Given the description of an element on the screen output the (x, y) to click on. 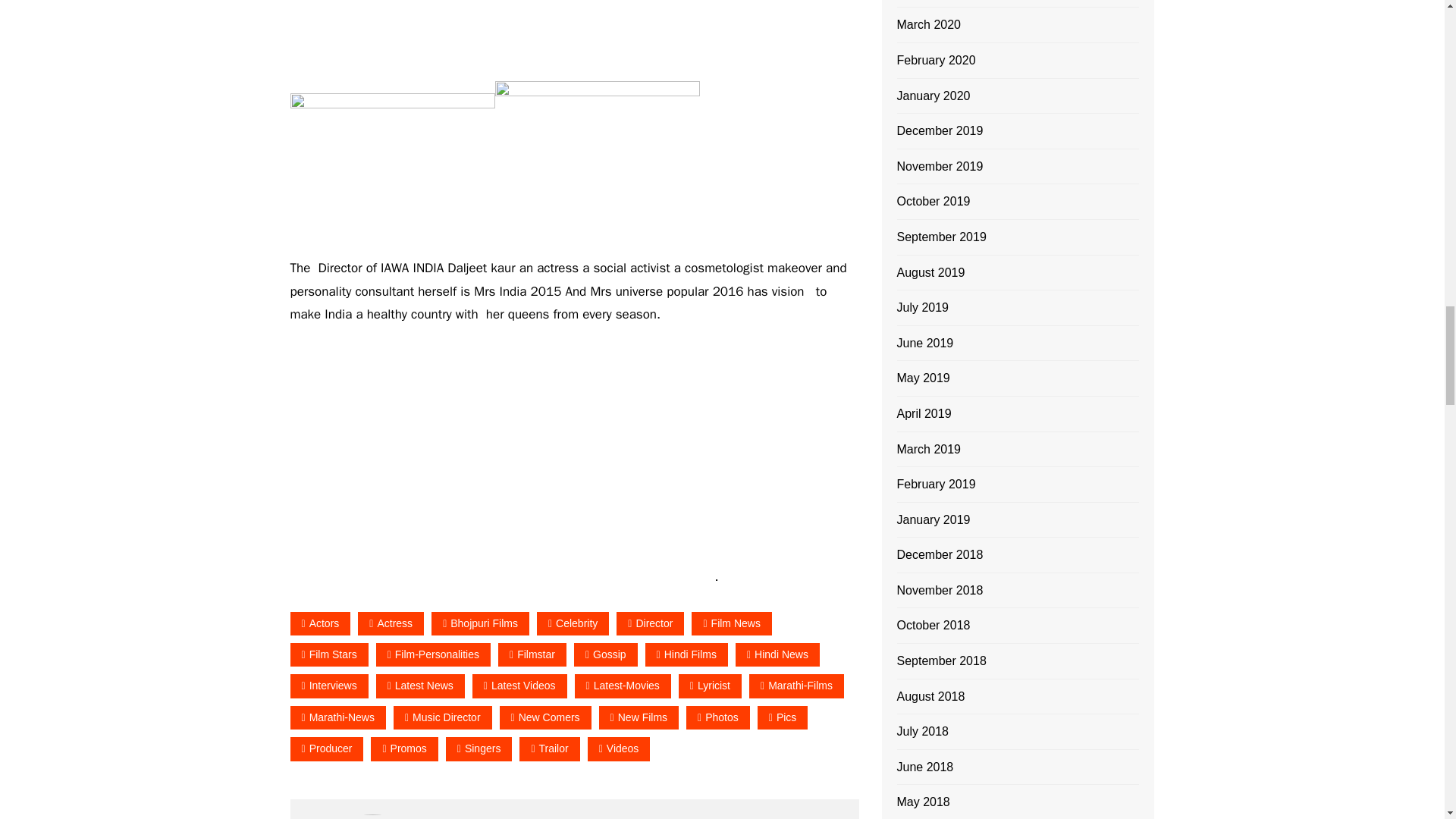
Celebrity (572, 623)
Bhojpuri Films (479, 623)
Marathi-News (337, 717)
Film Stars (328, 654)
Actors (319, 623)
Marathi-Films (796, 685)
Director (649, 623)
Hindi Films (686, 654)
Interviews (328, 685)
New Films (638, 717)
Actress (390, 623)
Hindi News (777, 654)
Lyricist (709, 685)
Promos (404, 748)
Film News (731, 623)
